Given the description of an element on the screen output the (x, y) to click on. 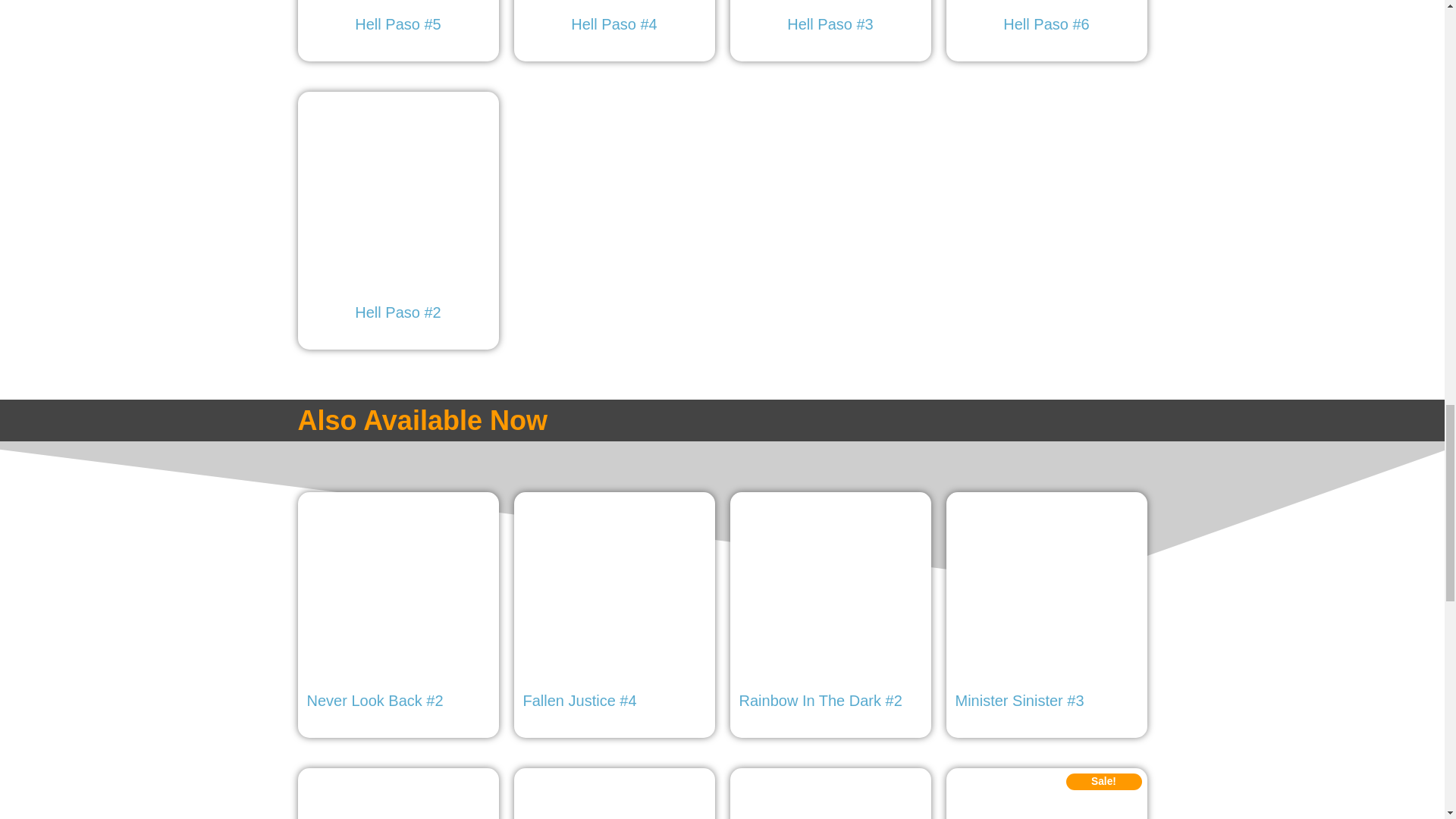
Sluggy Freelance Book 10 (829, 798)
